Given the description of an element on the screen output the (x, y) to click on. 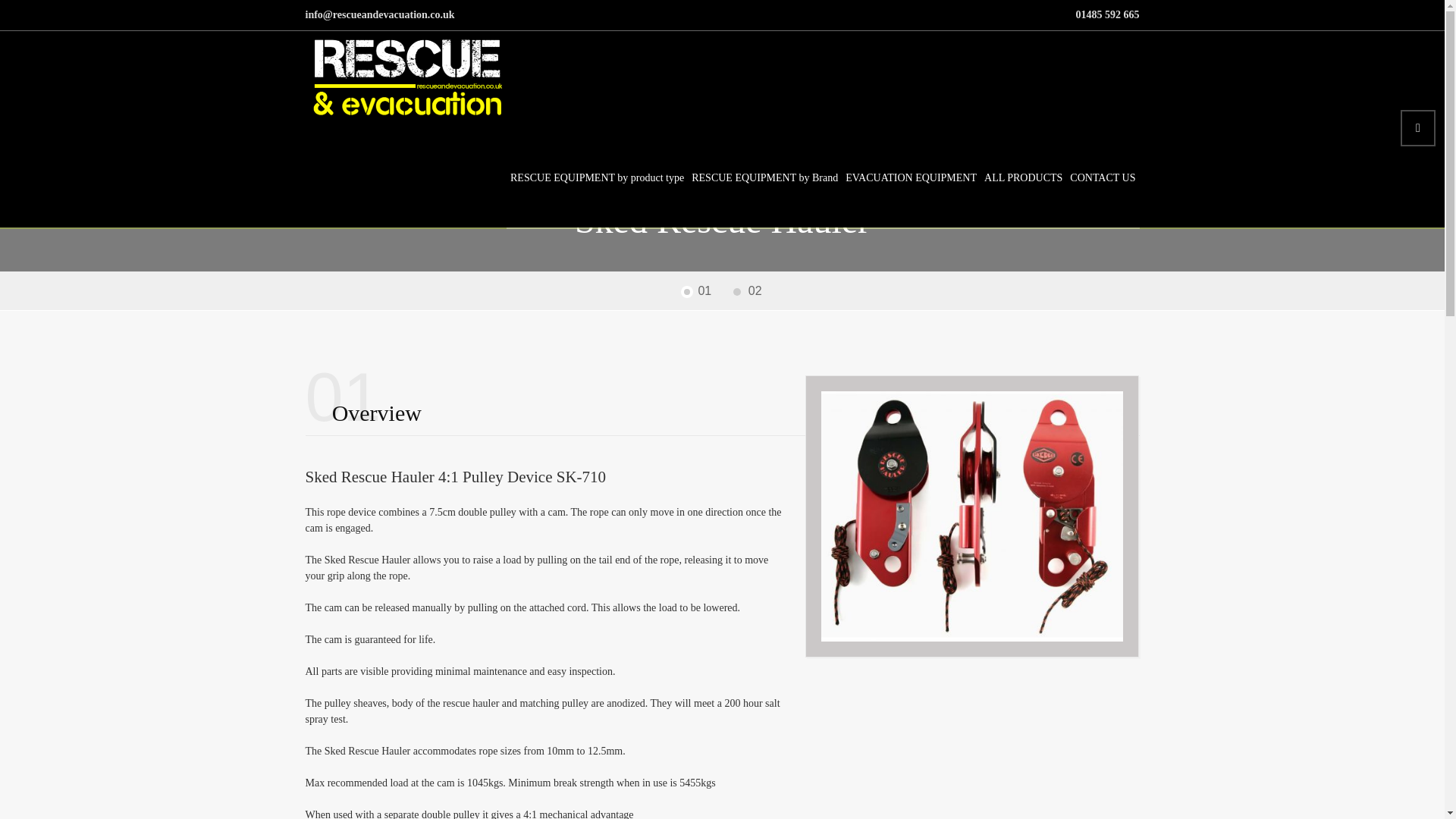
RESCUE EQUIPMENT by product type (596, 177)
Home (445, 187)
EVACUATION EQUIPMENT (910, 177)
Rescue Equipment by Product Type (555, 187)
Search (1418, 128)
RESCUE EQUIPMENT by Brand (764, 177)
Rescue Equipment (805, 187)
Rope Devices (889, 187)
Rescue Kits and Systems (699, 187)
Enlarge Image (972, 516)
